Given the description of an element on the screen output the (x, y) to click on. 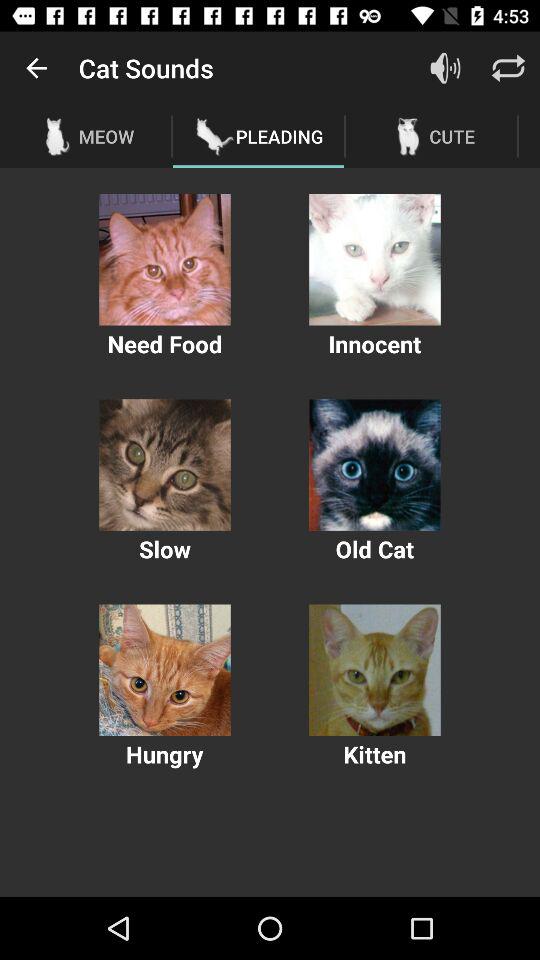
turn off the item above the meow icon (36, 68)
